Given the description of an element on the screen output the (x, y) to click on. 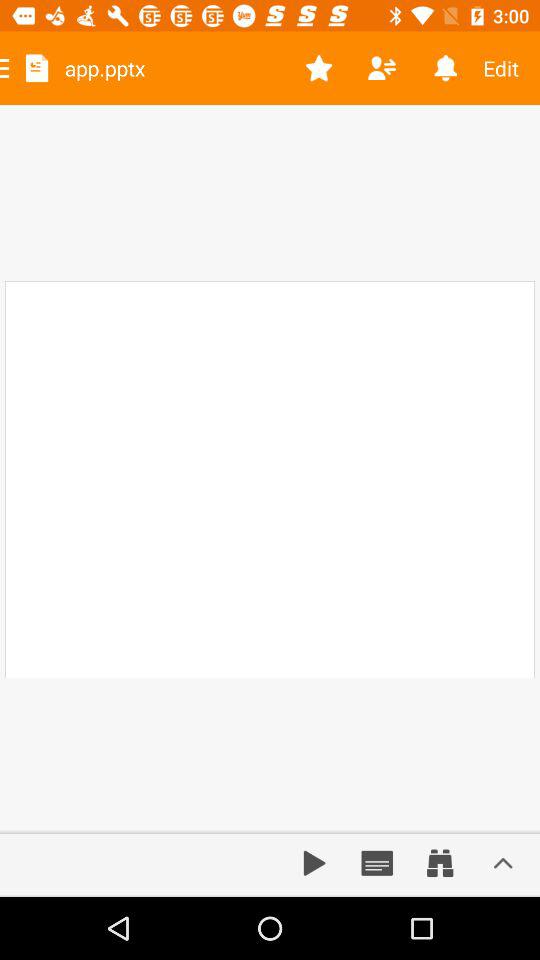
press item next to app.pptx icon (318, 68)
